Given the description of an element on the screen output the (x, y) to click on. 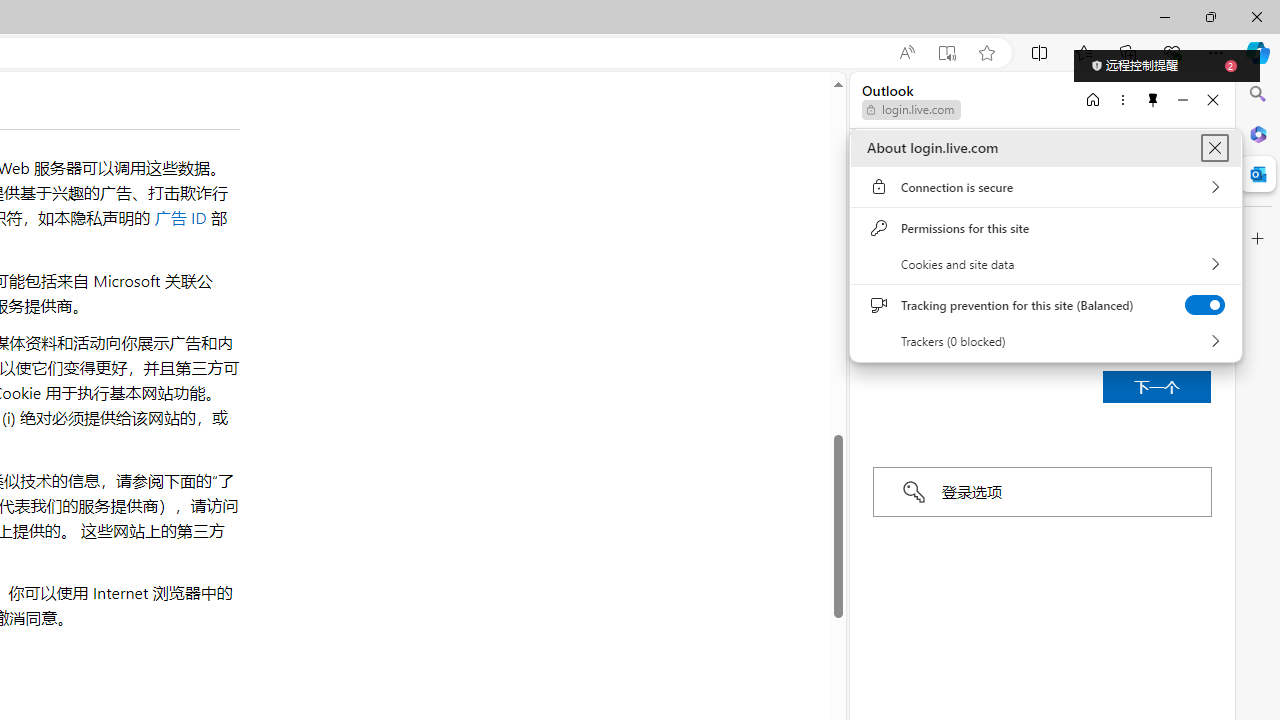
About login.live.com (1214, 147)
Trackers (0 blocked) (1046, 341)
Permissions for this site (1046, 228)
Cookies and site data (1046, 264)
Connection is secure (1046, 187)
Tracking prevention for this site (Balanced) (1204, 305)
